Given the description of an element on the screen output the (x, y) to click on. 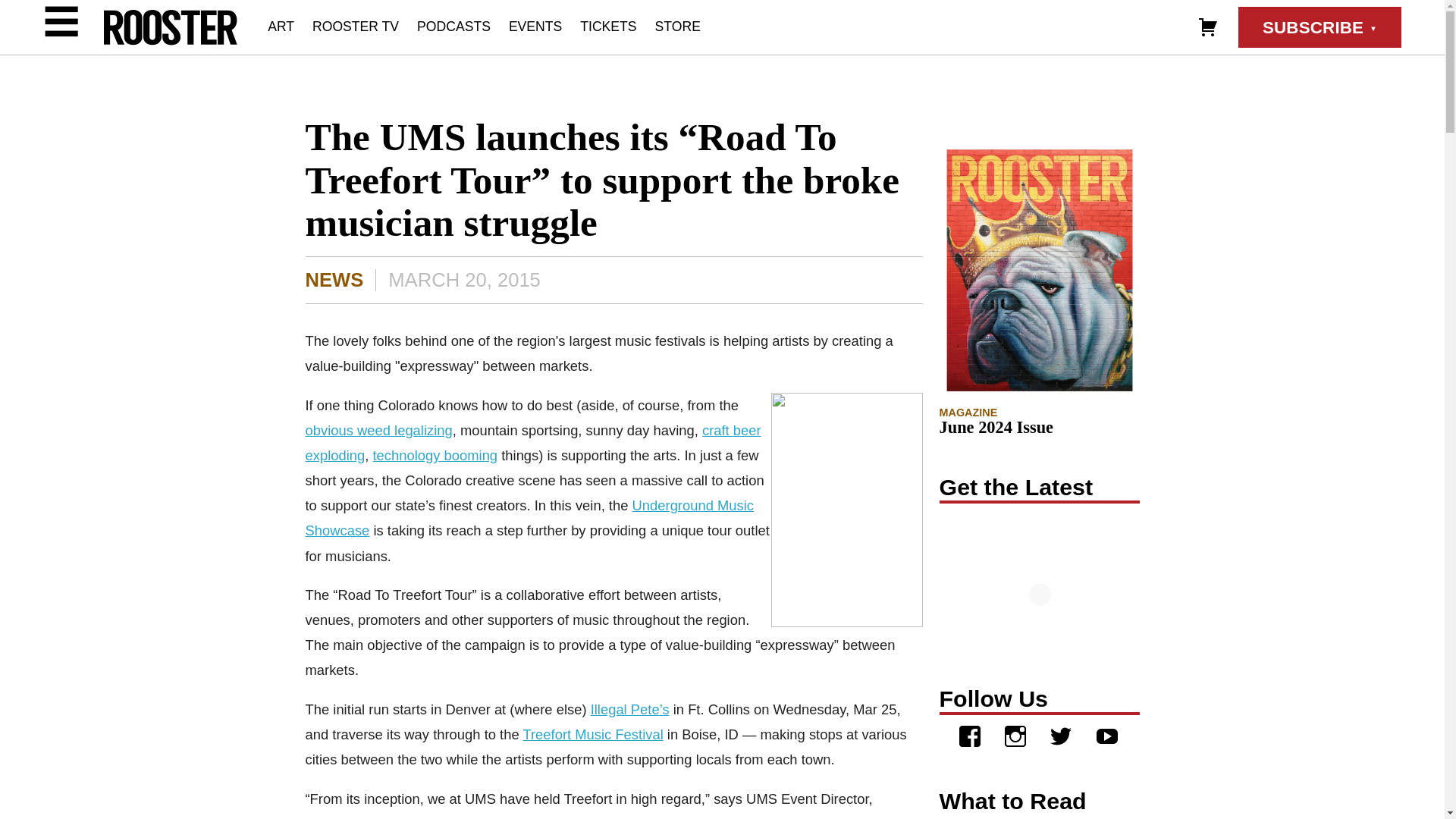
CART (1207, 26)
PODCASTS (453, 26)
SUBSCRIBE (1319, 27)
TICKETS (607, 26)
ROOSTER TV (355, 26)
EVENTS (535, 26)
STORE (677, 26)
ART (280, 26)
